Given the description of an element on the screen output the (x, y) to click on. 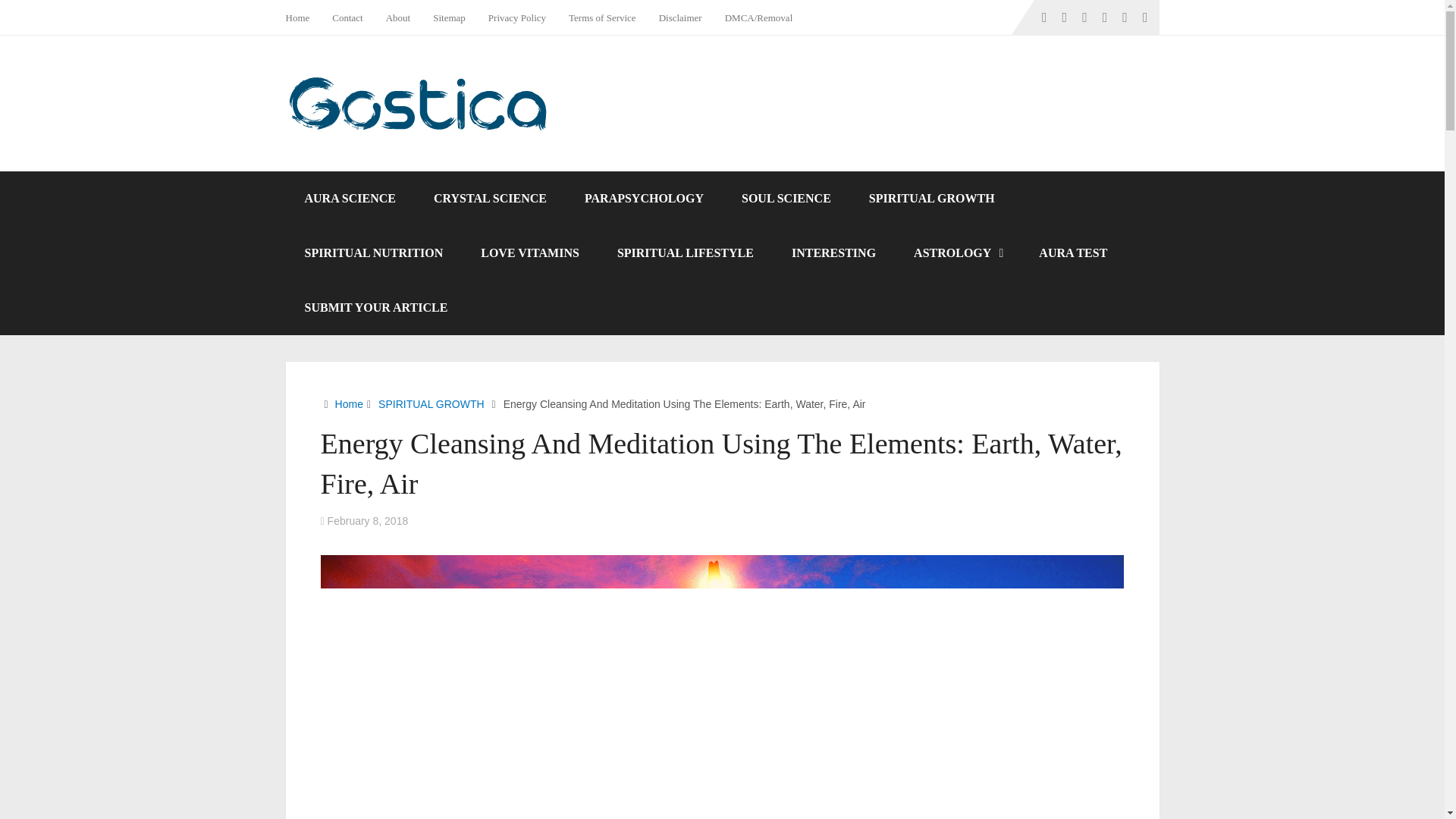
SPIRITUAL GROWTH (931, 198)
LOVE VITAMINS (529, 253)
Home (348, 404)
SUBMIT YOUR ARTICLE (375, 307)
SOUL SCIENCE (786, 198)
Home (302, 17)
Contact (347, 17)
INTERESTING (834, 253)
Disclaimer (680, 17)
AURA SCIENCE (349, 198)
